Given the description of an element on the screen output the (x, y) to click on. 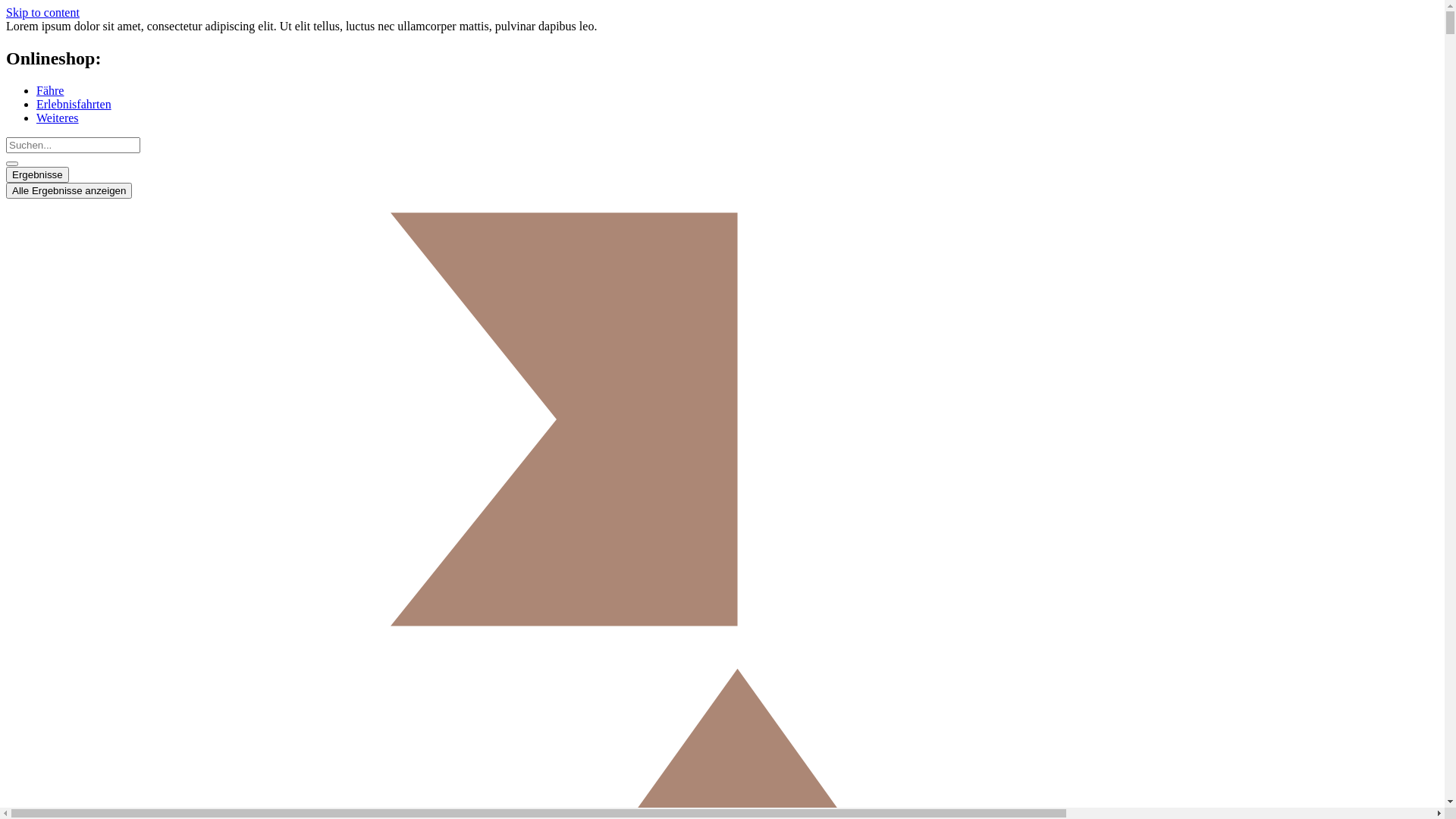
Weiteres Element type: text (57, 117)
Skip to content Element type: text (42, 12)
Alle Ergebnisse anzeigen Element type: text (68, 190)
Erlebnisfahrten Element type: text (73, 103)
Ergebnisse Element type: text (37, 174)
